Given the description of an element on the screen output the (x, y) to click on. 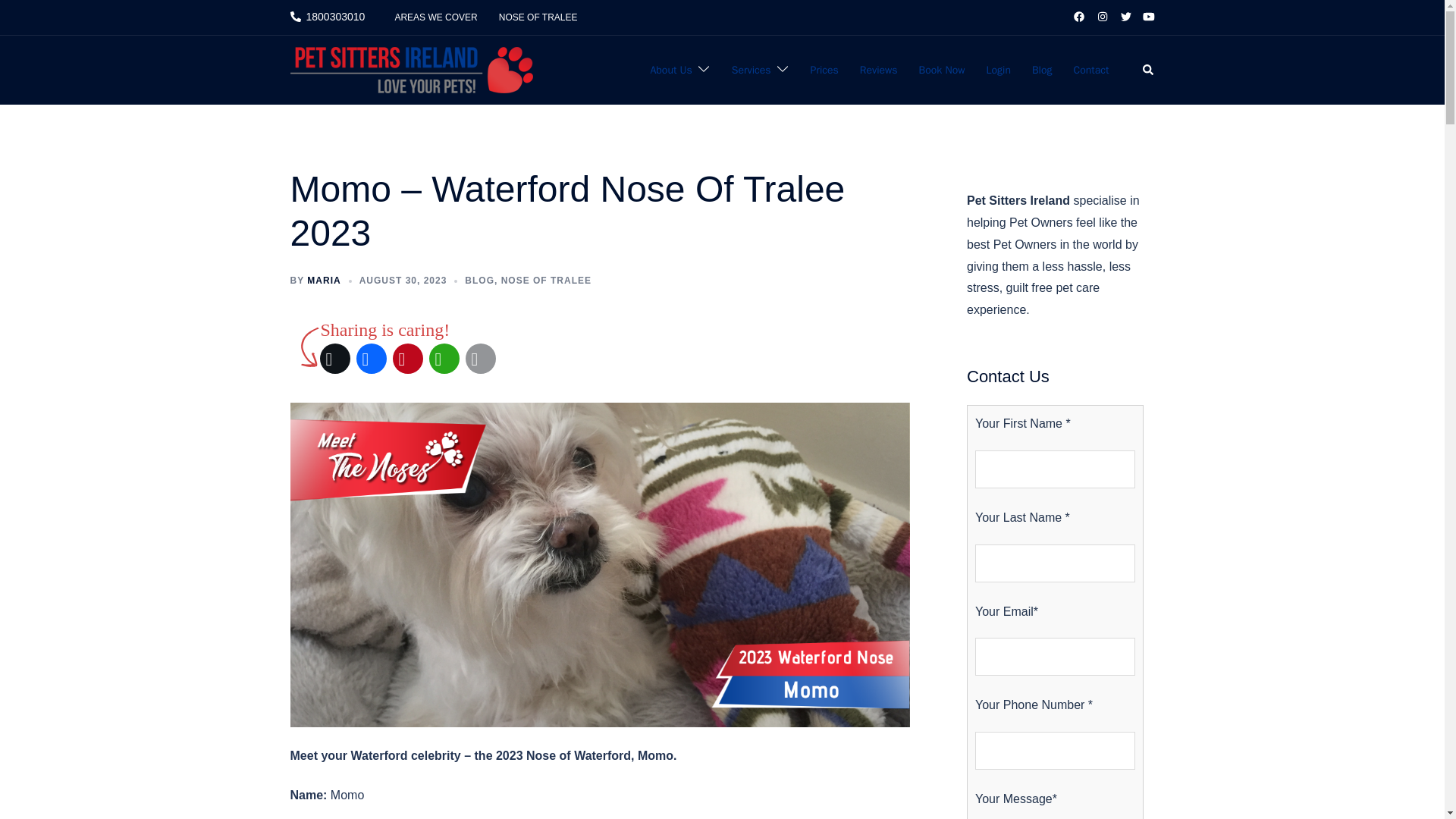
Pinterest (408, 358)
Reviews (879, 69)
NOSE OF TRALEE (538, 17)
Search (1147, 70)
Facebook (371, 358)
Book Now (941, 69)
Services (751, 69)
Contact (1091, 69)
AREAS WE COVER (435, 17)
Email This (481, 358)
Login (997, 69)
1800303010 (327, 17)
Prices (824, 69)
Blog (1042, 69)
